Given the description of an element on the screen output the (x, y) to click on. 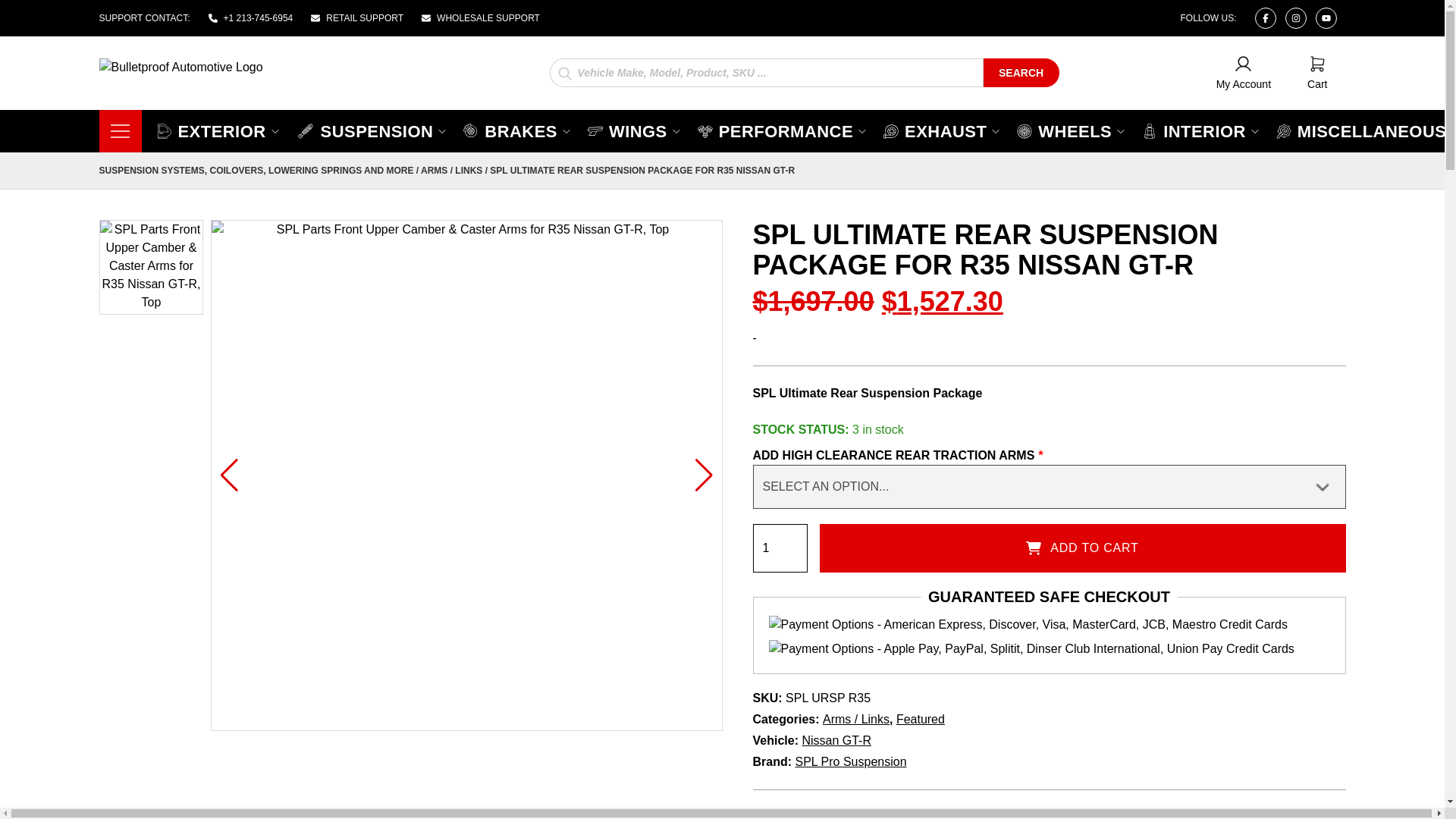
Youtube (1316, 73)
RETAIL SUPPORT (1243, 73)
SEARCH (1325, 17)
EXTERIOR (357, 18)
Instagram (1021, 71)
1 (218, 130)
Facebook (1295, 17)
BRAKES (779, 548)
WHOLESALE SUPPORT (1264, 17)
SUSPENSION (517, 130)
